Given the description of an element on the screen output the (x, y) to click on. 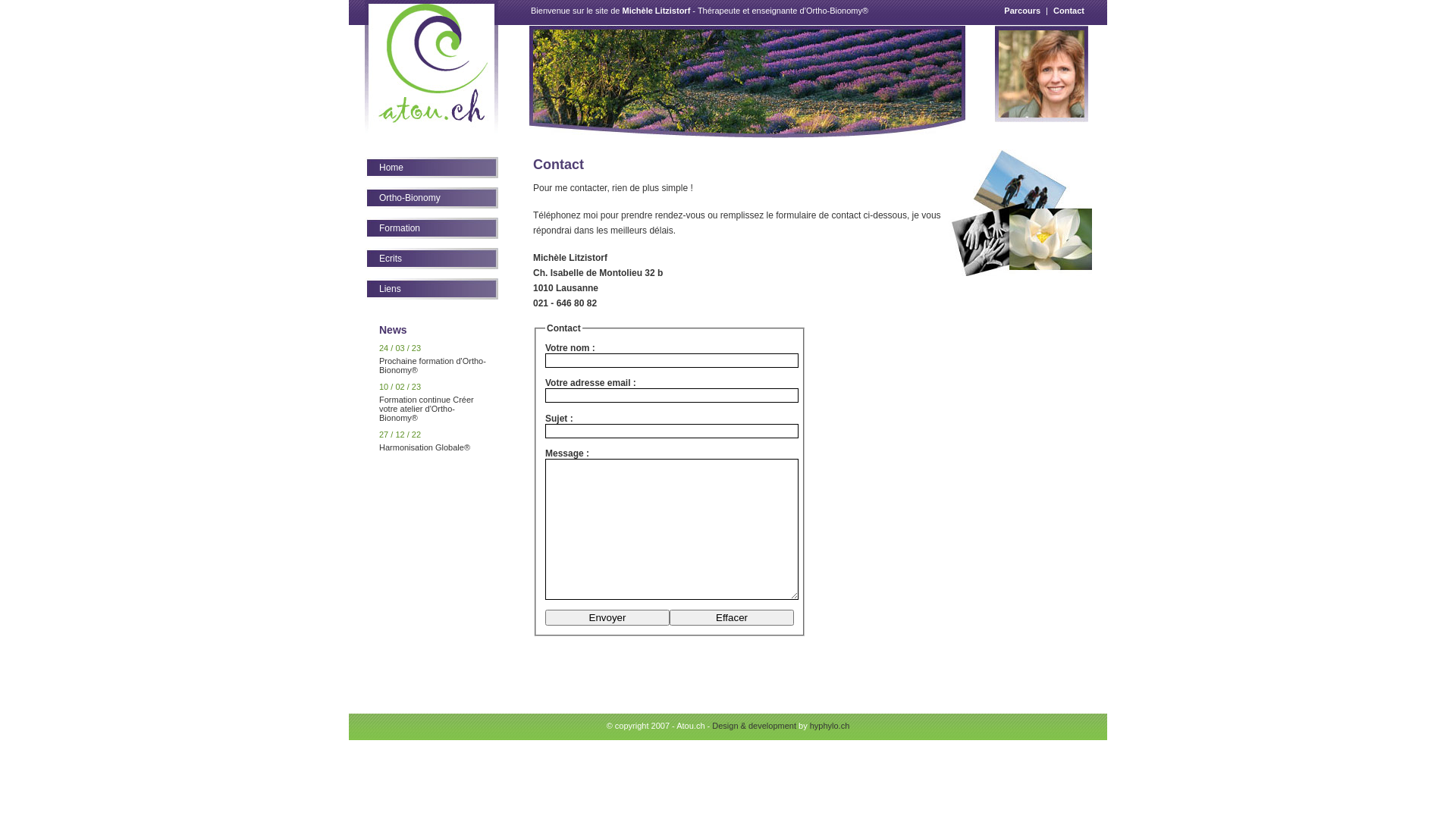
Contact Element type: text (1068, 10)
Design & development Element type: text (754, 725)
Liens Element type: text (431, 288)
Envoyer Element type: text (607, 617)
Home Element type: text (431, 167)
Ecrits Element type: text (431, 258)
Formation Element type: text (431, 227)
Ortho-Bionomy Element type: text (431, 197)
hyphylo.ch Element type: text (829, 725)
Parcours Element type: text (1022, 10)
